Given the description of an element on the screen output the (x, y) to click on. 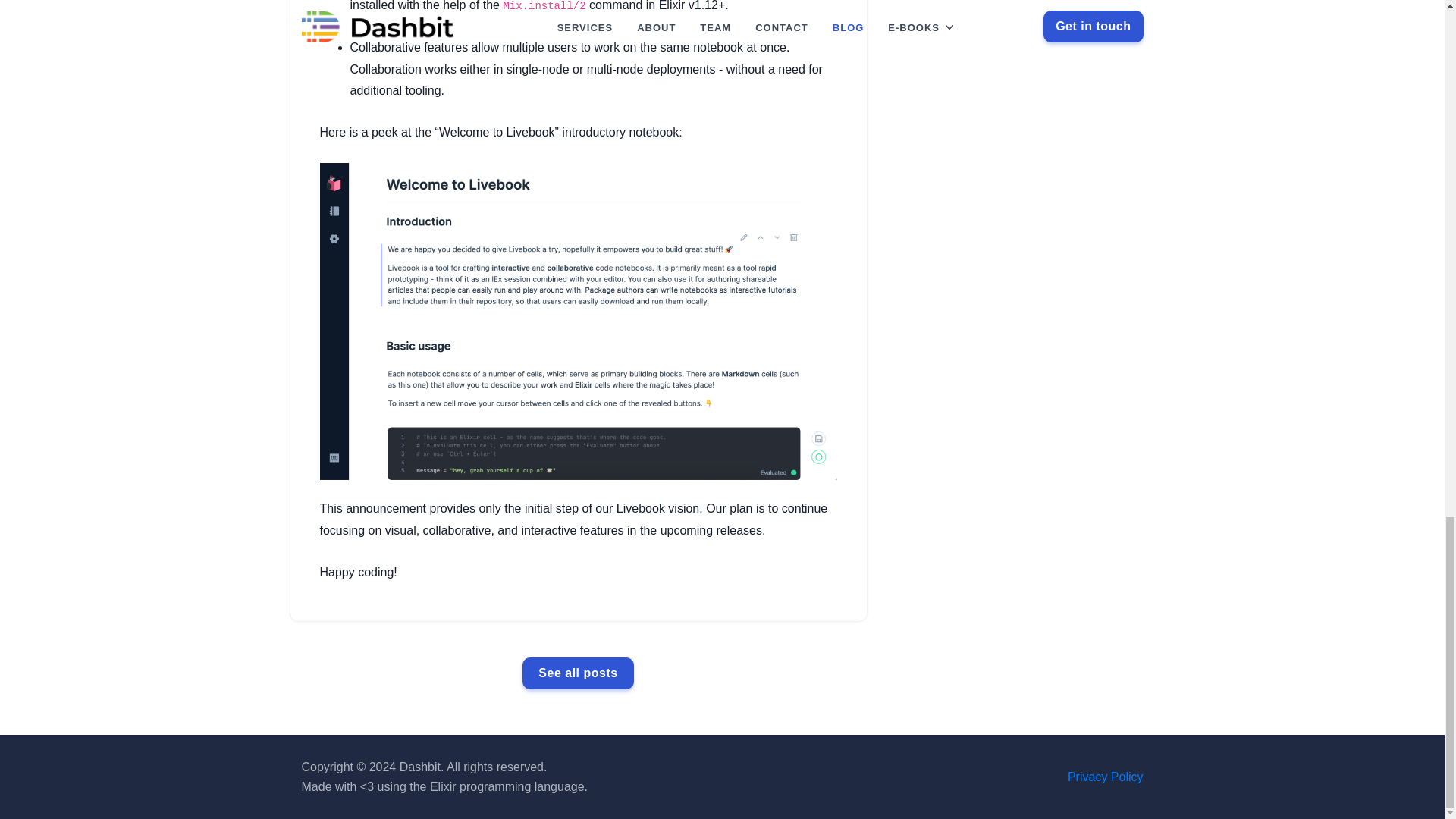
Privacy Policy  (1104, 776)
See all posts (577, 673)
